Given the description of an element on the screen output the (x, y) to click on. 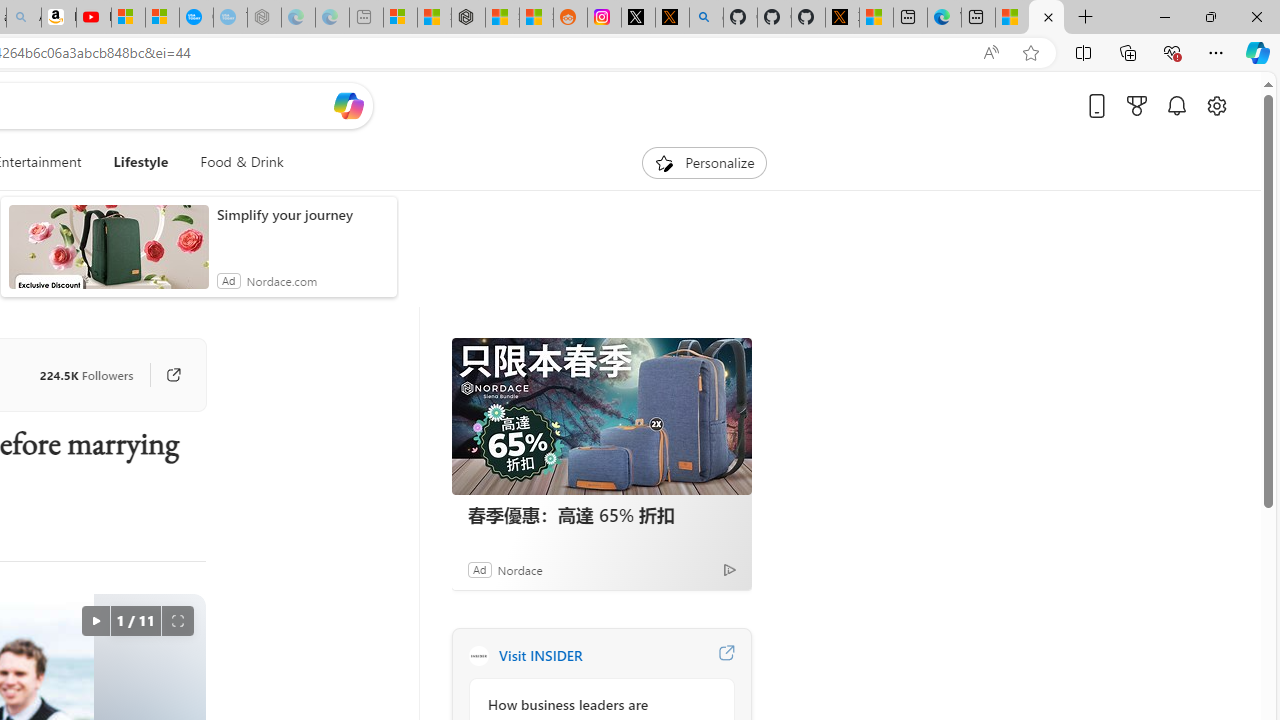
X Privacy Policy (841, 17)
Lifestyle (140, 162)
Collections (1128, 52)
Restore (1210, 16)
autorotate button (95, 620)
Ad (479, 569)
To get missing image descriptions, open the context menu. (664, 162)
Microsoft rewards (1137, 105)
Simplify your journey (302, 214)
Food & Drink (241, 162)
Nordace - Nordace has arrived Hong Kong - Sleeping (264, 17)
Add this page to favorites (Ctrl+D) (1030, 53)
